Given the description of an element on the screen output the (x, y) to click on. 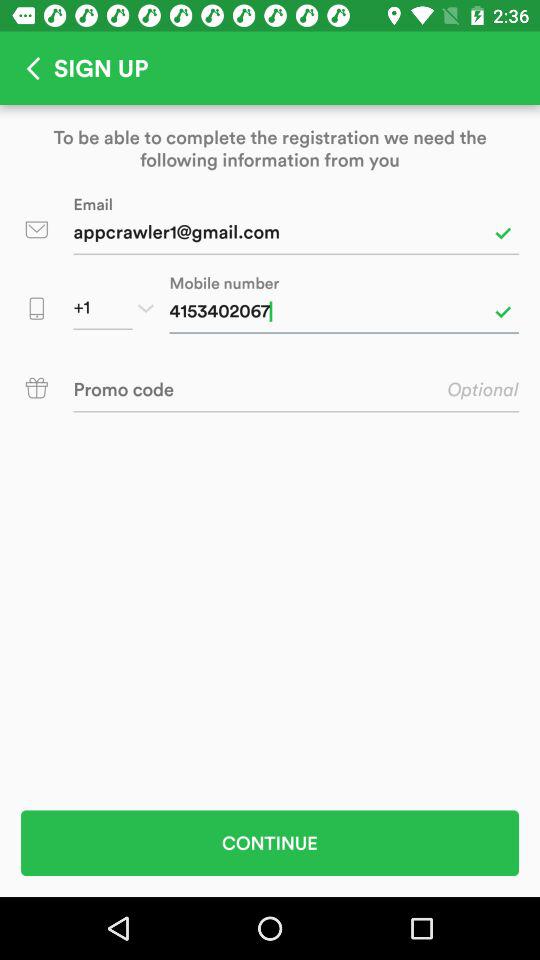
it is go to previous page (27, 68)
